Given the description of an element on the screen output the (x, y) to click on. 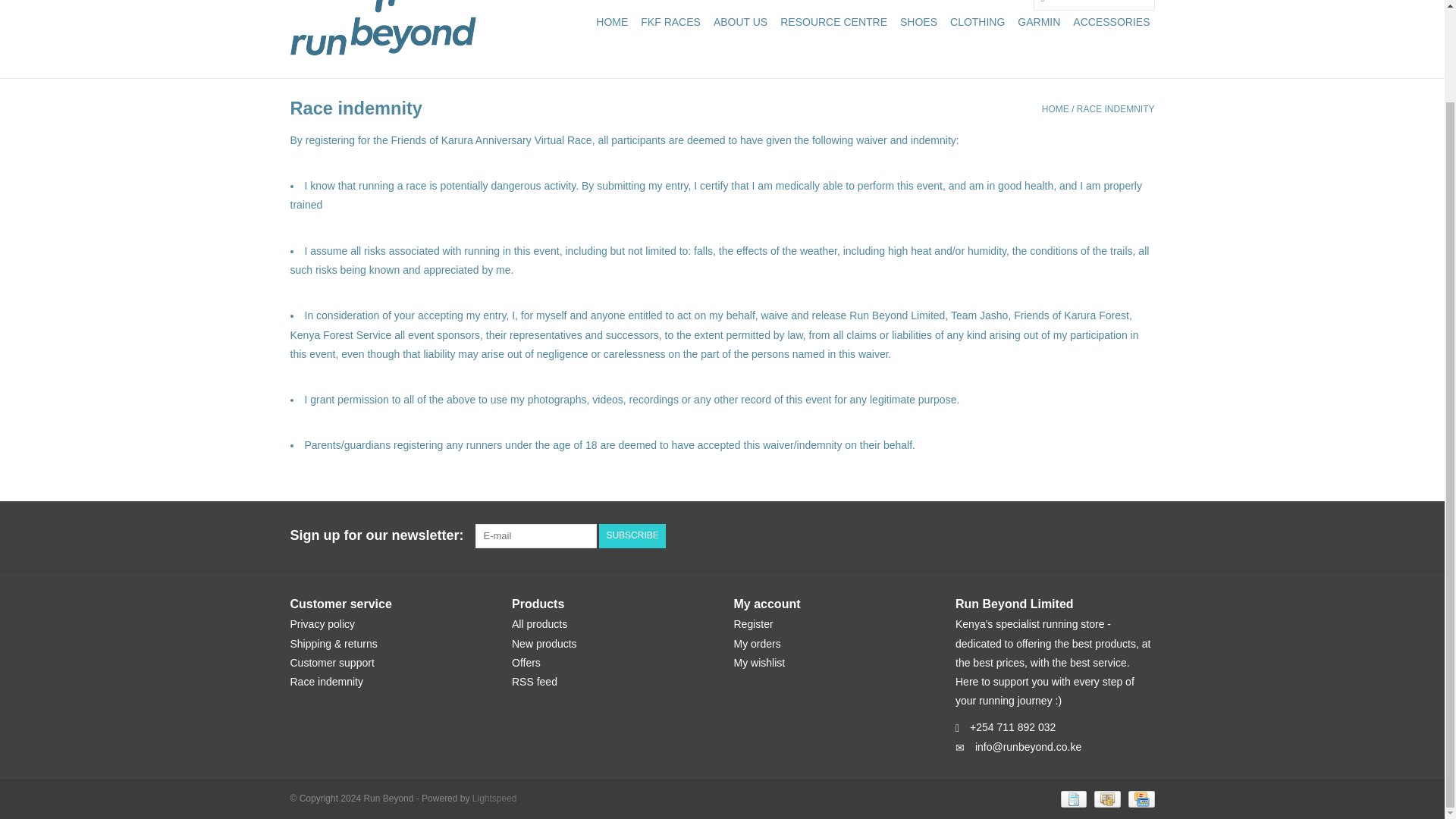
ABOUT US (740, 21)
Search (1041, 6)
FKF RACES (670, 21)
RESOURCE CENTRE (833, 21)
SHOES (918, 21)
About Us (740, 21)
Run Beyond (382, 27)
CLOTHING (976, 21)
HOME (611, 21)
Resource Centre (833, 21)
FKF Races (670, 21)
